Given the description of an element on the screen output the (x, y) to click on. 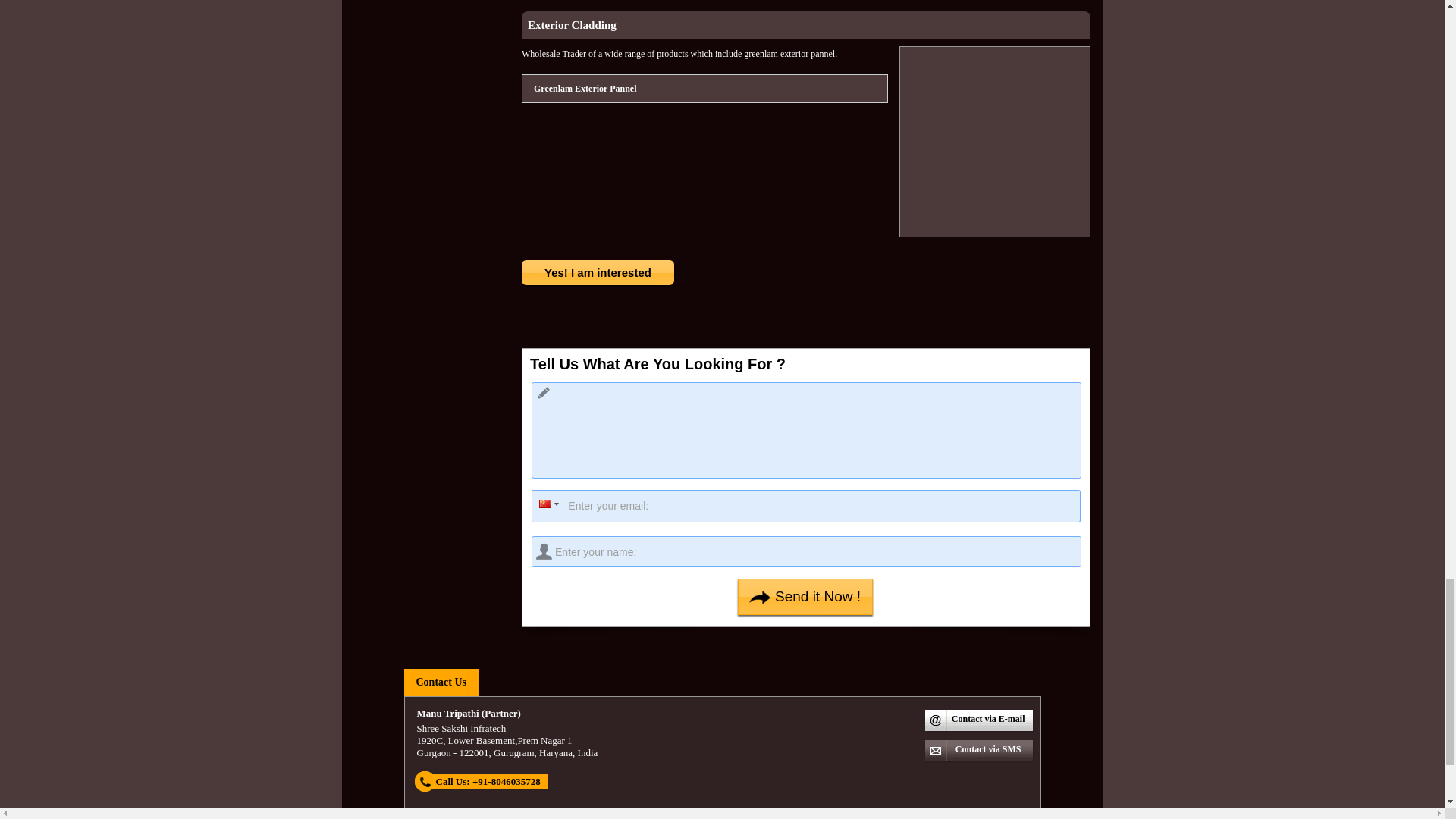
Enter your email: (805, 505)
Enter your name: (806, 551)
Send it Now ! (805, 596)
Greenlam Exterior Pannel (584, 87)
Send it Now ! (805, 596)
Exterior Cladding (571, 24)
